Given the description of an element on the screen output the (x, y) to click on. 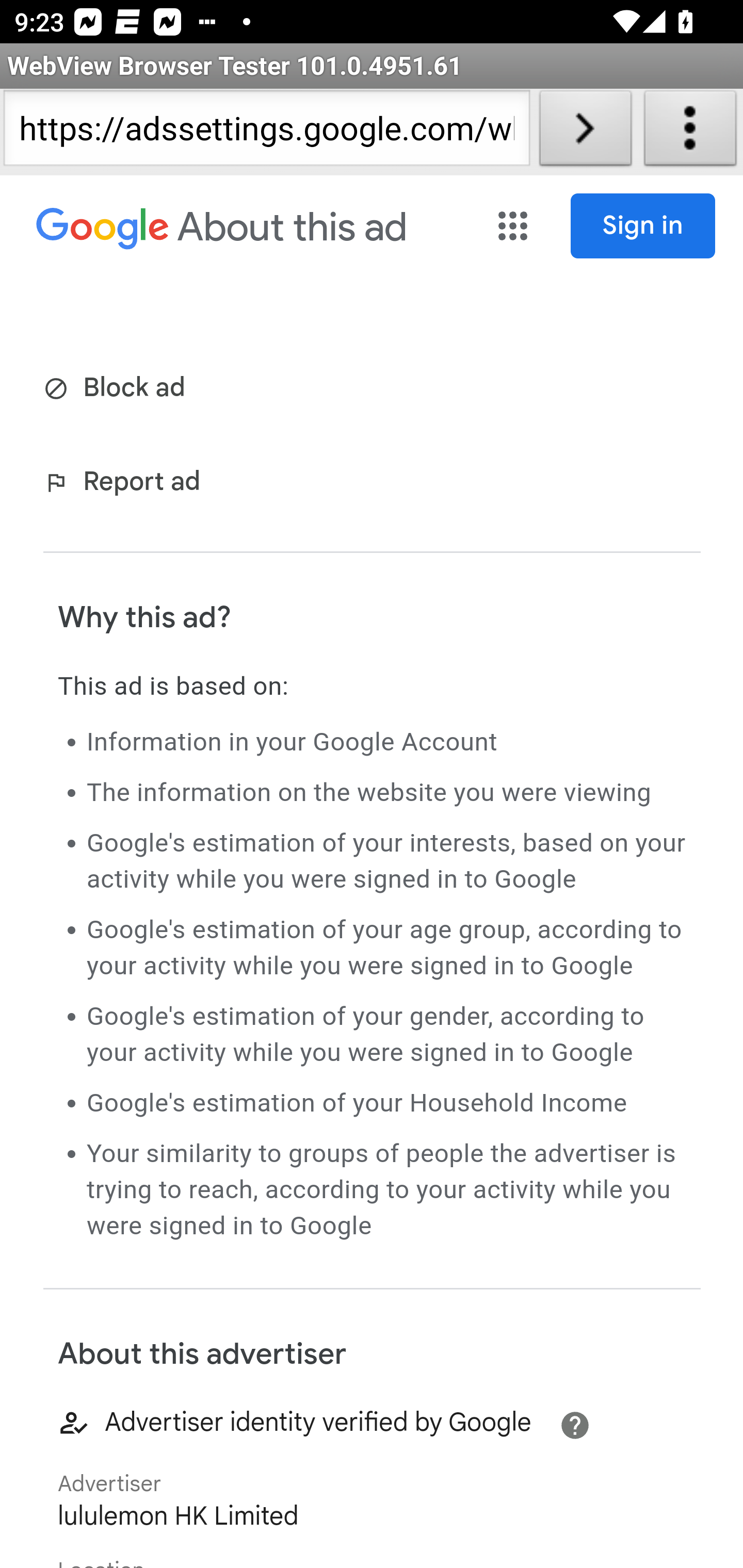
https://adssettings.google.com/whythisad (266, 132)
Load URL (585, 132)
About WebView (690, 132)
Google apps (514, 226)
Sign in (643, 226)
Block ad (117, 388)
Report ad (opens in new tab) Report ad (126, 483)
